Given the description of an element on the screen output the (x, y) to click on. 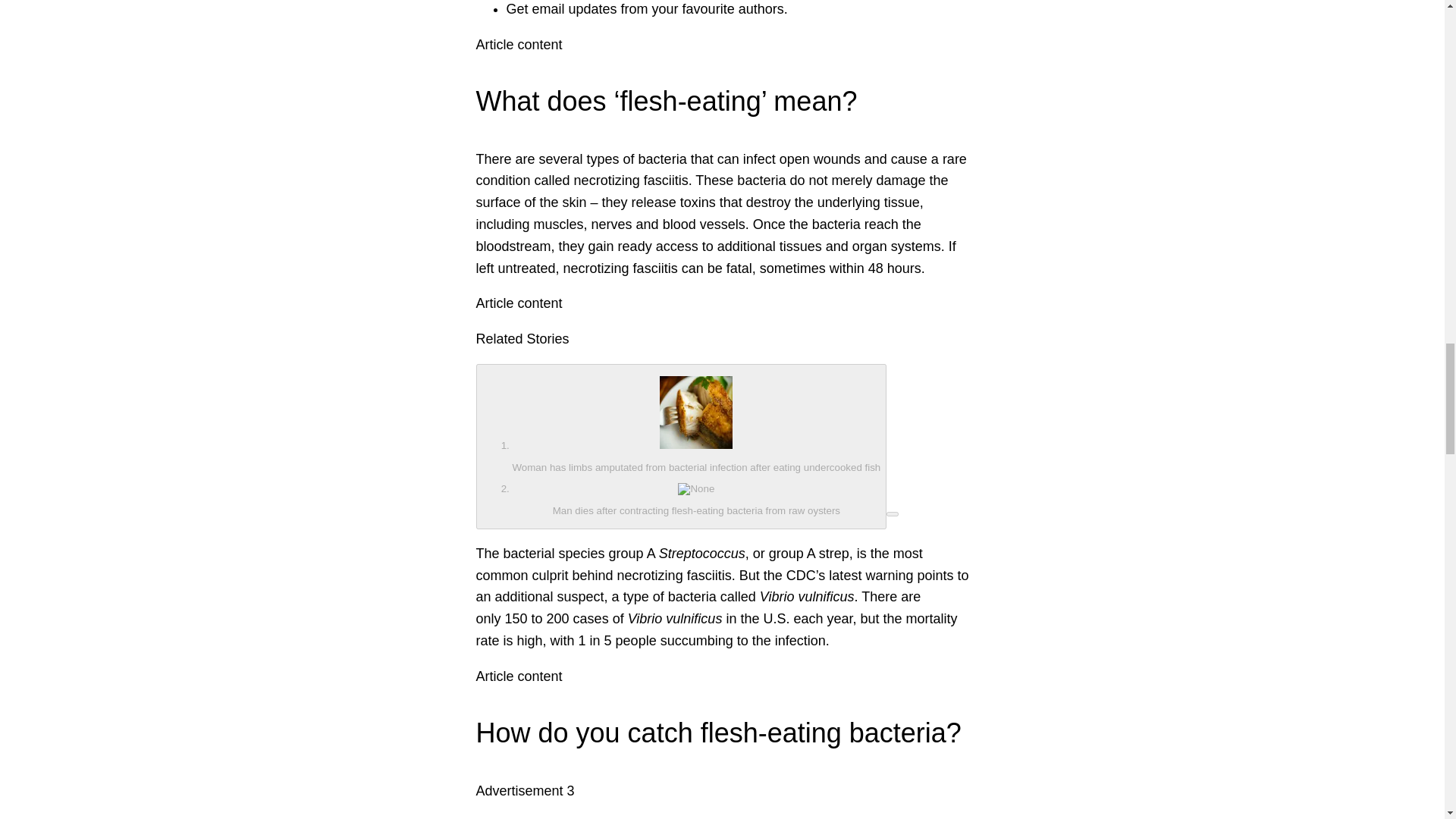
next (892, 513)
previous (681, 446)
